Given the description of an element on the screen output the (x, y) to click on. 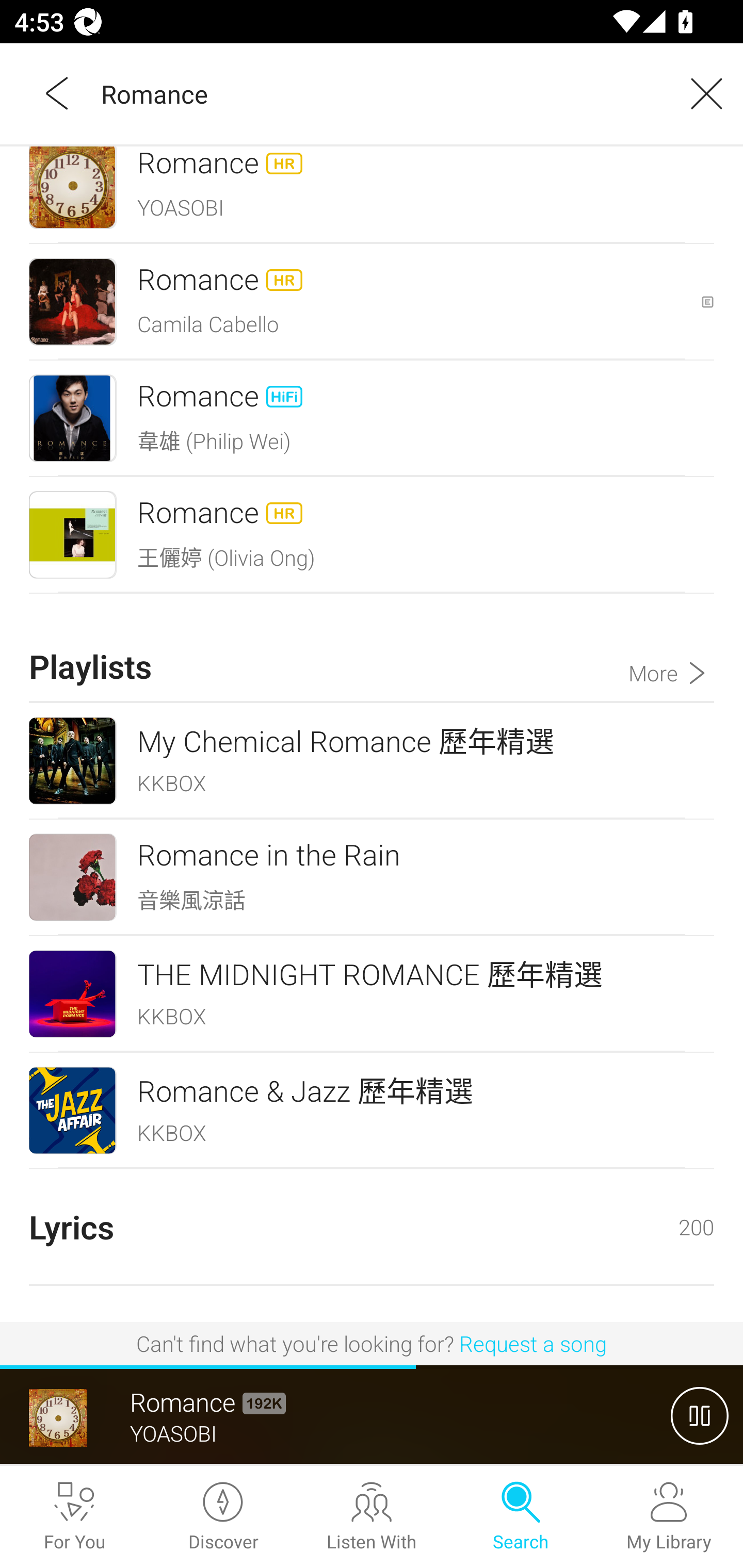
Romance (378, 92)
Clear query (699, 92)
Back,outside of the list (57, 93)
Romance YOASOBI (371, 193)
Romance Camila Cabello Explicit (371, 301)
Romance 韋雄 (Philip Wei) (371, 418)
Romance 王儷婷 (Olivia Ong) (371, 534)
More Playlists More (671, 648)
My Chemical Romance 歷年精選 KKBOX (371, 760)
Romance in the Rain 音樂風涼話 (371, 877)
THE MIDNIGHT ROMANCE 歷年精選 KKBOX (371, 994)
Romance & Jazz 歷年精選 KKBOX (371, 1110)
Lyrics 200 (371, 1226)
Can't find what you're looking for? Request a song (371, 1343)
暫停播放 (699, 1415)
For You (74, 1517)
Discover (222, 1517)
Listen With (371, 1517)
Search (519, 1517)
My Library (668, 1517)
